Given the description of an element on the screen output the (x, y) to click on. 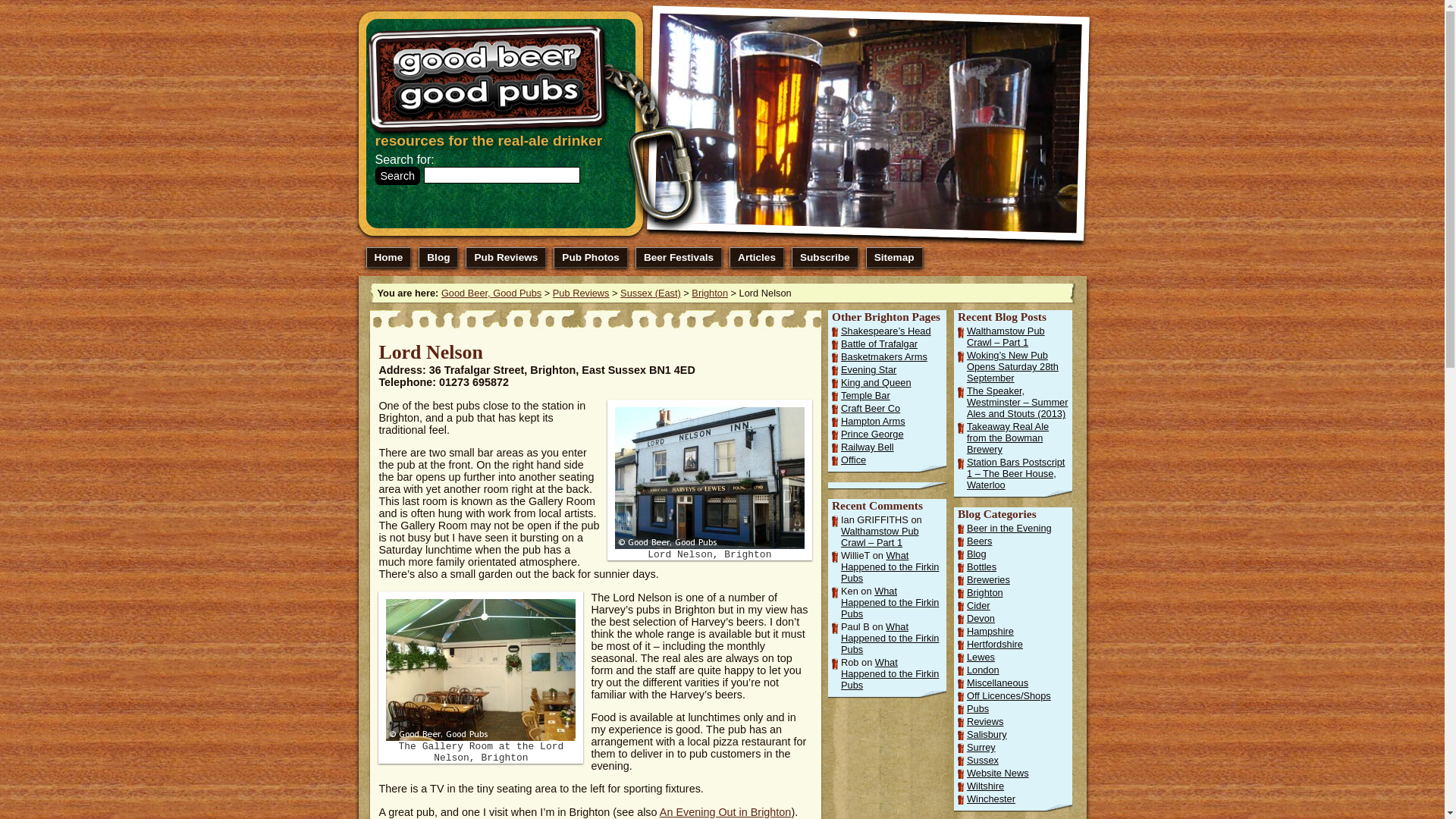
Pub Reviews (505, 257)
Good Beer, Good Pubs (491, 292)
An Evening Out in Brighton (725, 811)
Home (387, 257)
Sitemap (894, 257)
Search (397, 176)
Search (397, 176)
Articles (756, 257)
Lord Nelson, Brighton (709, 477)
Brighton (709, 292)
